Given the description of an element on the screen output the (x, y) to click on. 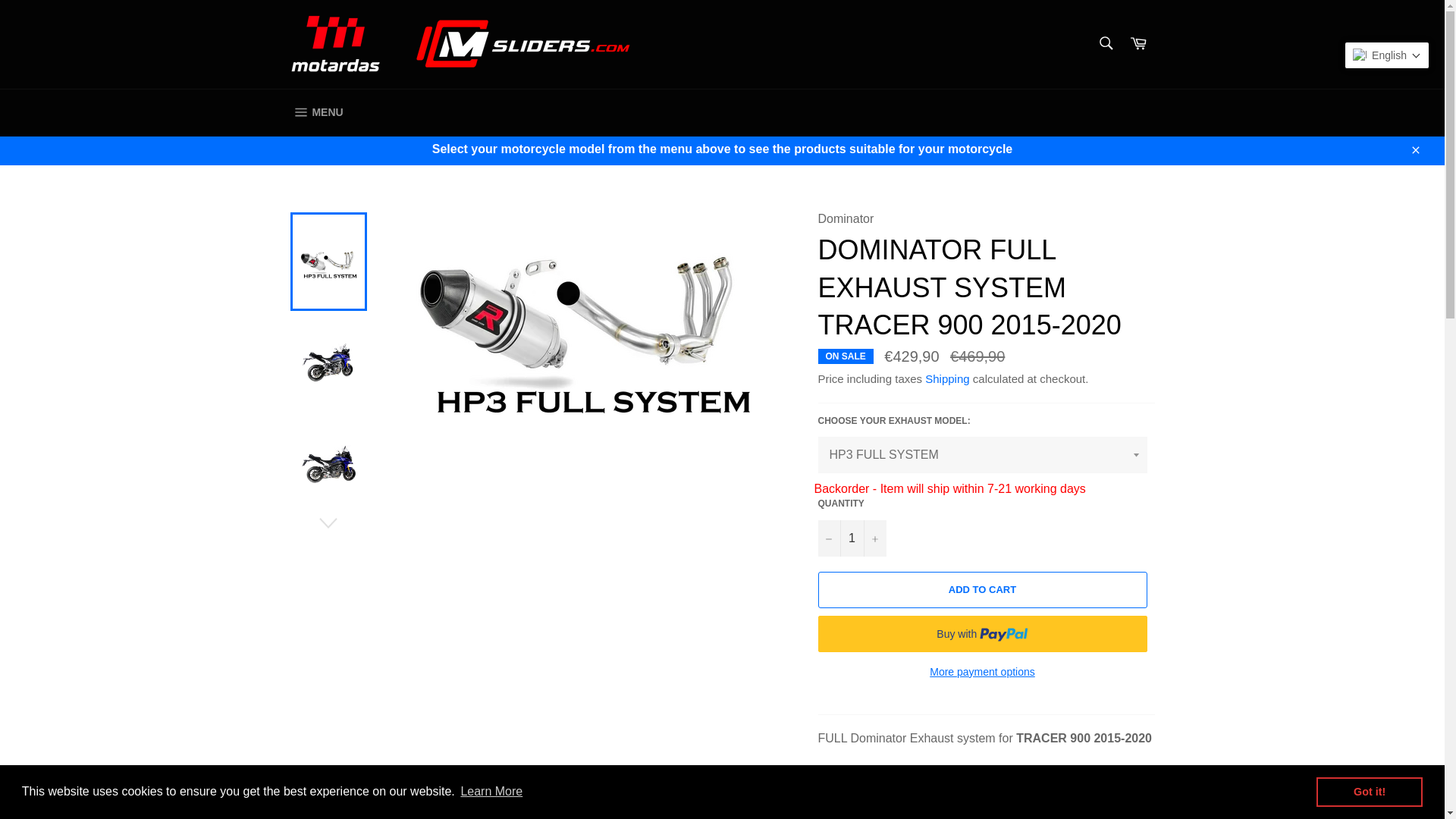
Got it! (1369, 791)
1 (850, 538)
Learn More (491, 791)
